Given the description of an element on the screen output the (x, y) to click on. 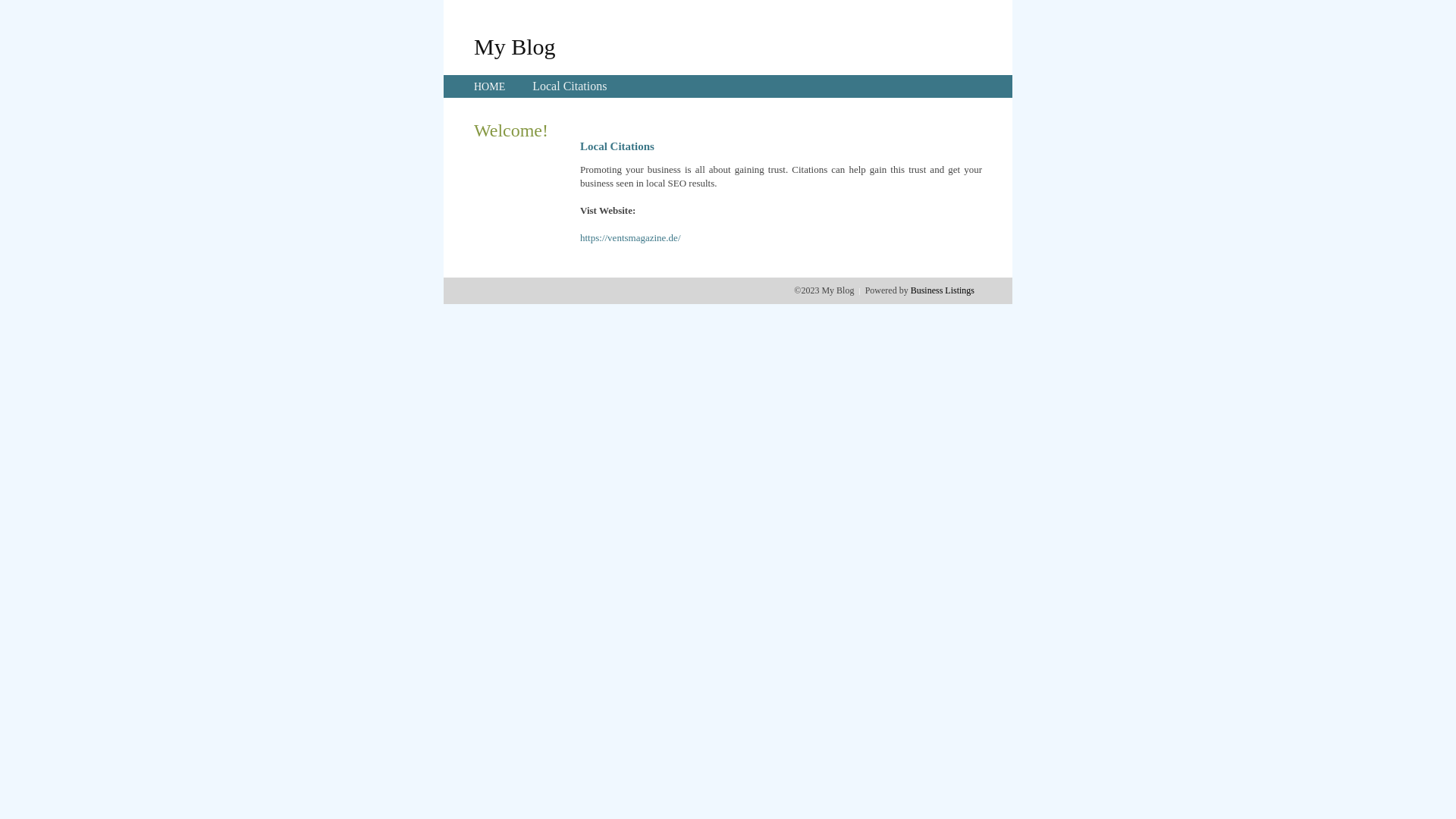
HOME Element type: text (489, 86)
Business Listings Element type: text (942, 290)
https://ventsmagazine.de/ Element type: text (630, 237)
My Blog Element type: text (514, 46)
Local Citations Element type: text (569, 85)
